Given the description of an element on the screen output the (x, y) to click on. 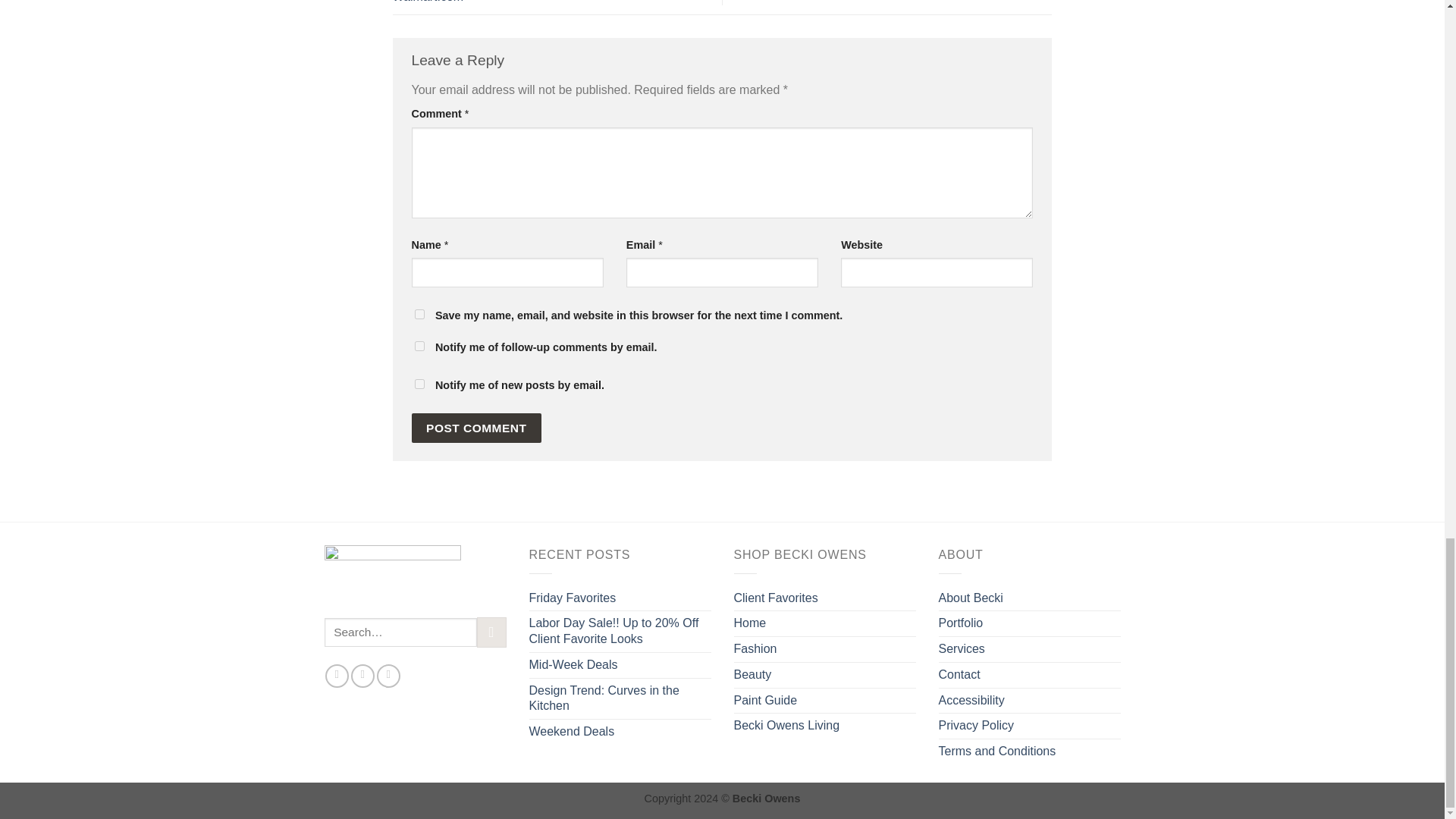
Post Comment (475, 428)
subscribe (418, 384)
Follow on Instagram (362, 675)
Follow on Facebook (336, 675)
subscribe (418, 346)
Follow on Pinterest (388, 675)
yes (418, 314)
